Given the description of an element on the screen output the (x, y) to click on. 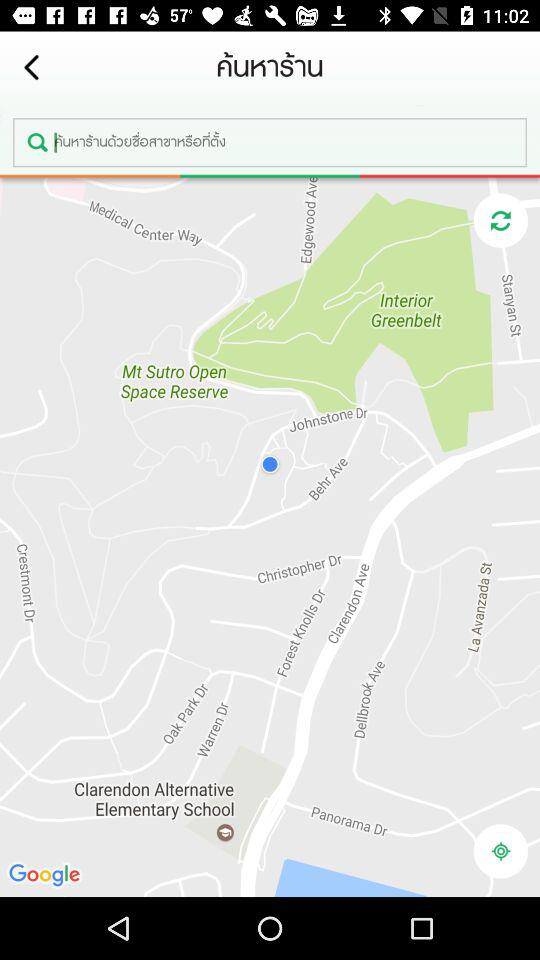
location (500, 851)
